Given the description of an element on the screen output the (x, y) to click on. 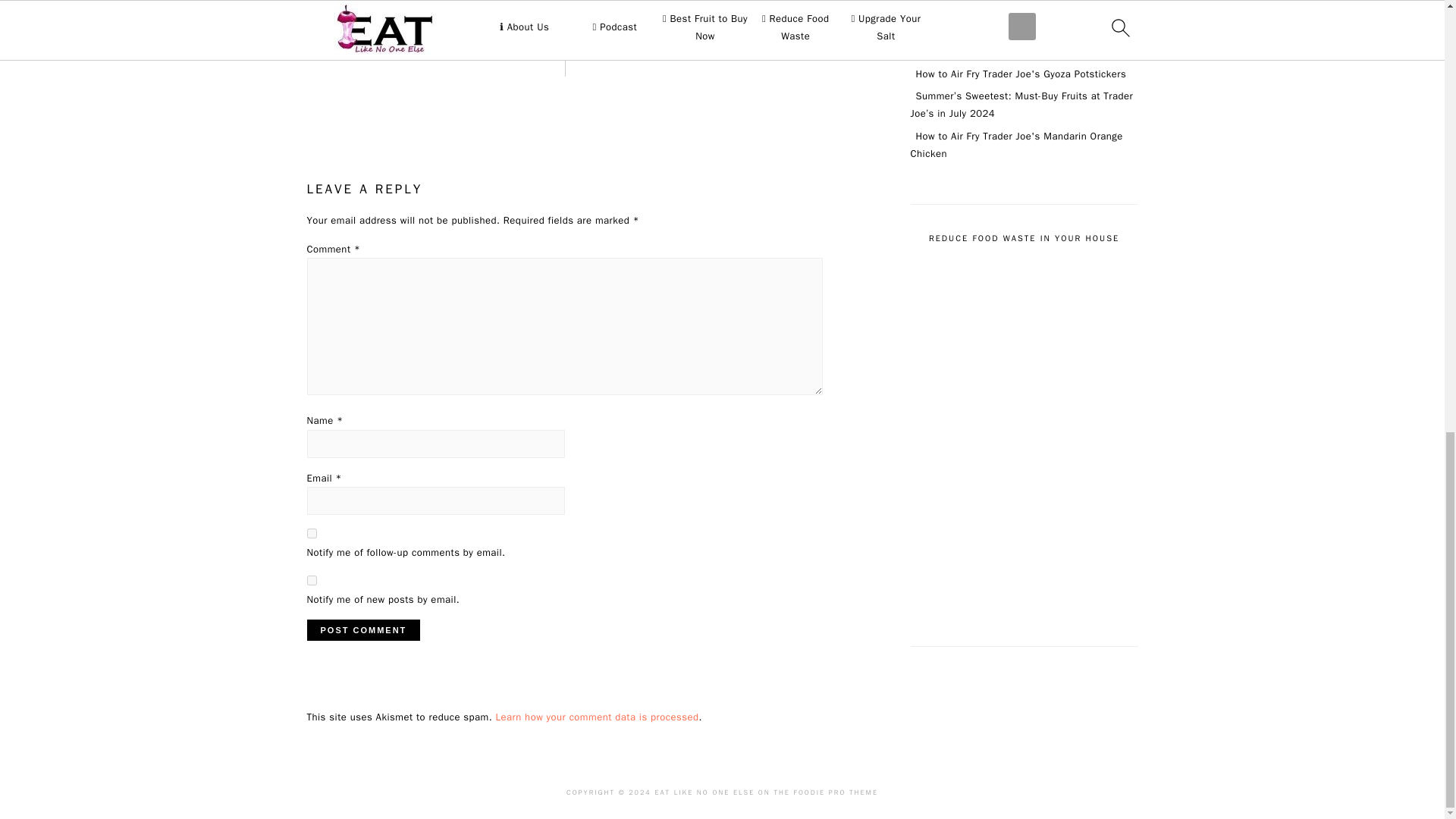
subscribe (310, 533)
Post Comment (362, 629)
subscribe (310, 580)
